Given the description of an element on the screen output the (x, y) to click on. 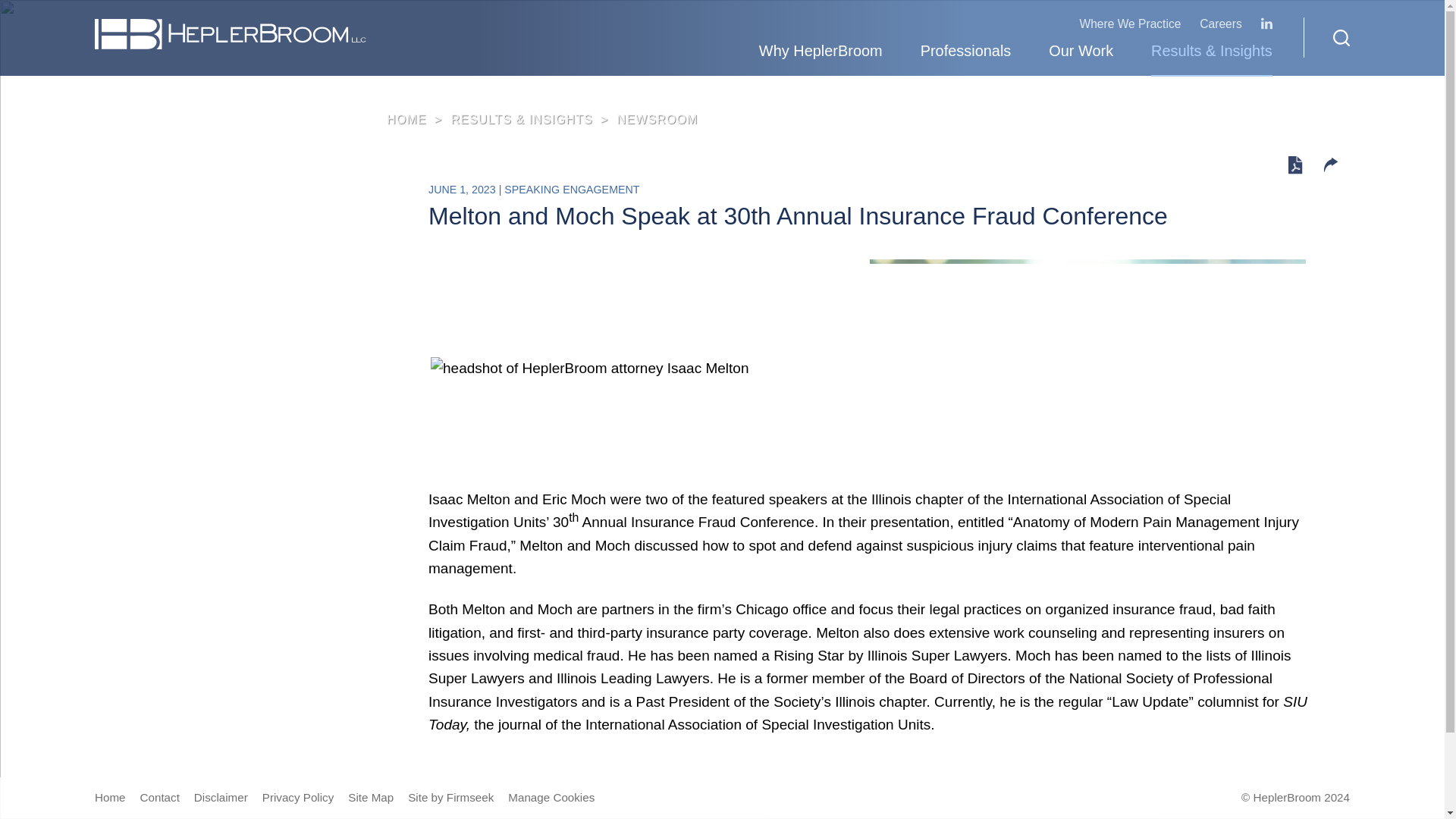
Cookie Settings (660, 19)
Our Work (1080, 53)
Main Menu (674, 19)
Why HeplerBroom (820, 53)
Isaac Melton (589, 368)
Eric Moch (1087, 365)
Share (1330, 166)
Menu (674, 19)
Main Content (667, 19)
Share (1330, 164)
